Given the description of an element on the screen output the (x, y) to click on. 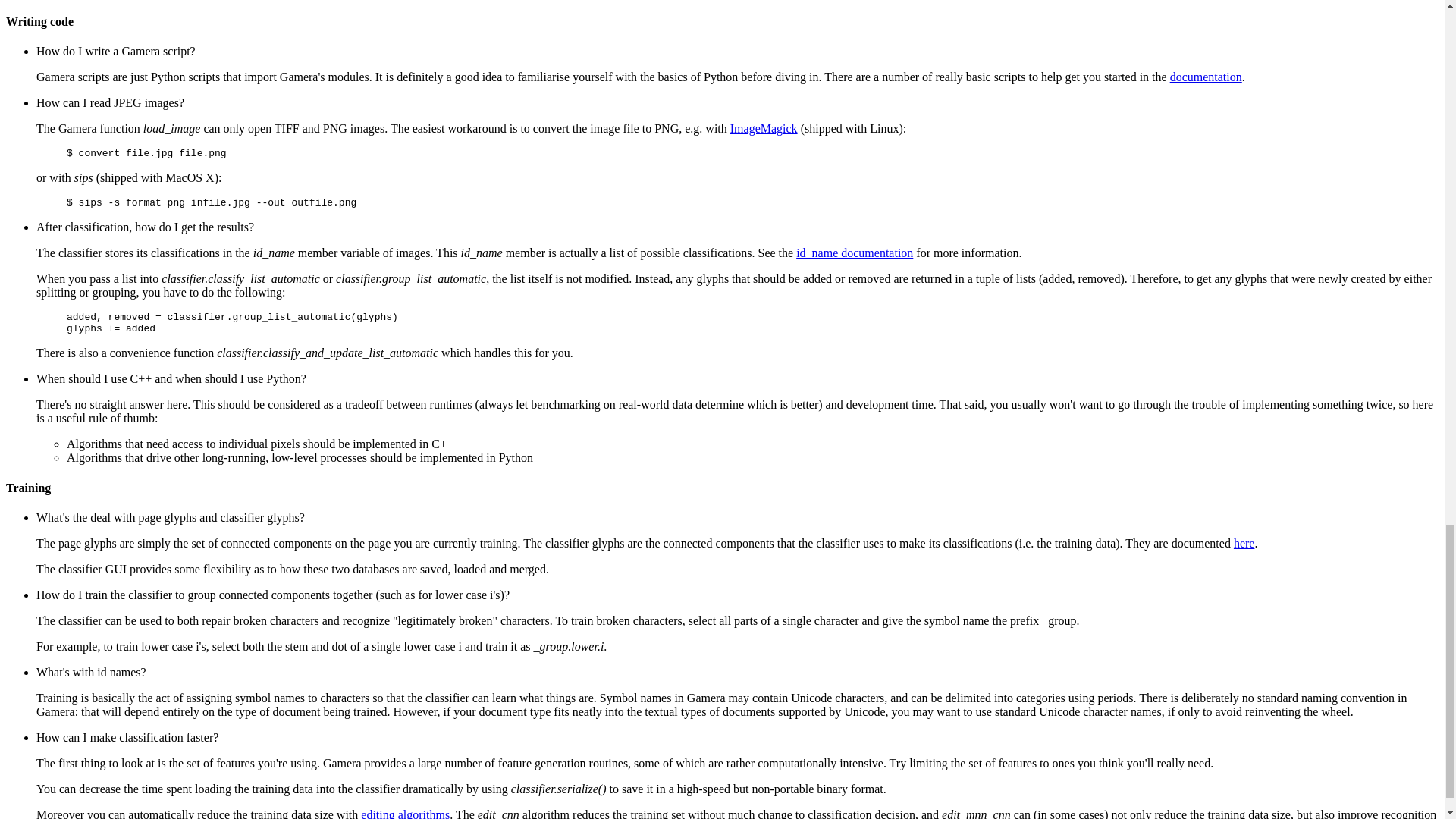
documentation (1205, 76)
here (1244, 543)
ImageMagick (763, 128)
